Given the description of an element on the screen output the (x, y) to click on. 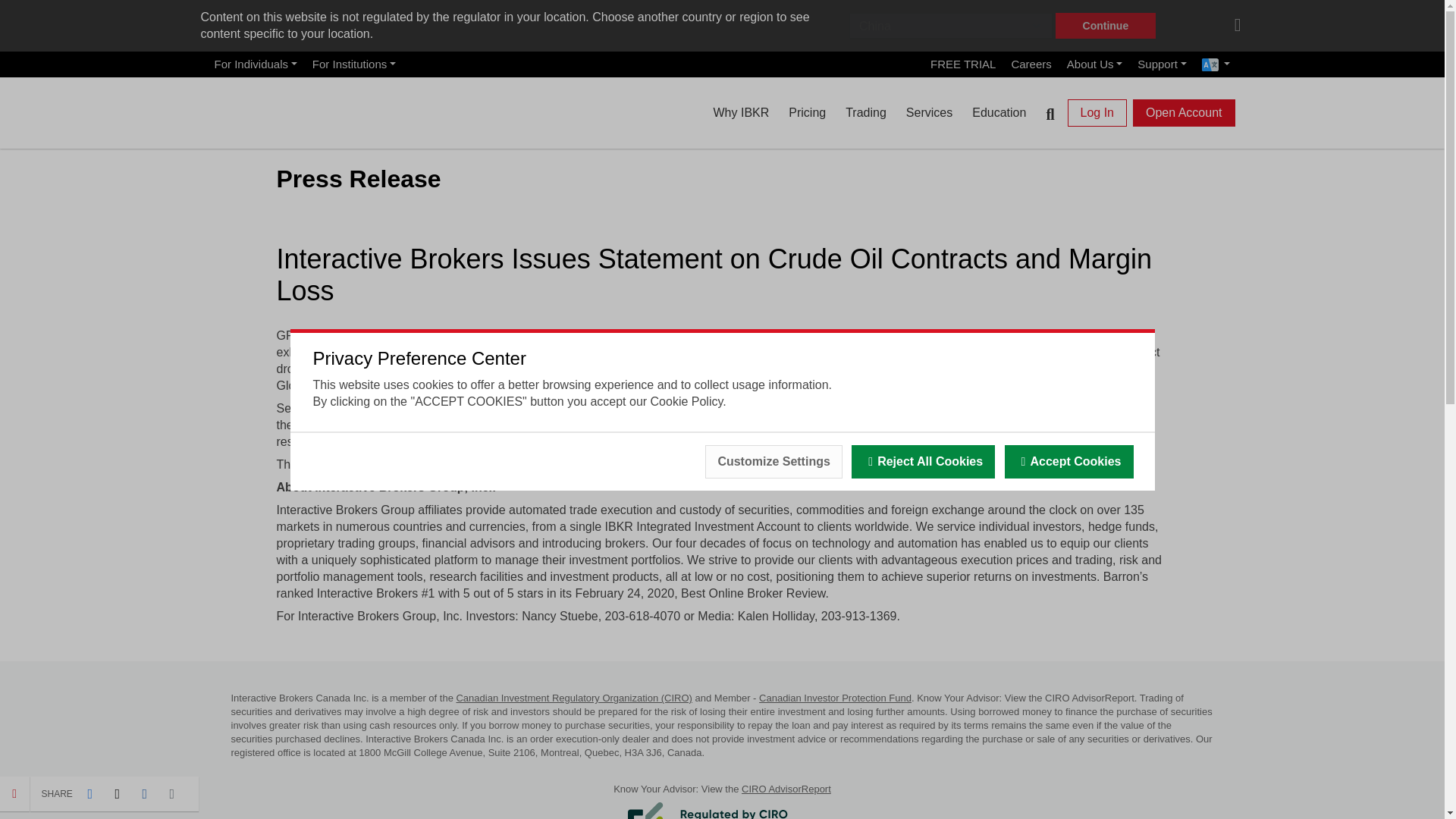
Share by Email (172, 793)
For Individuals (255, 63)
Share on Linkedin (144, 793)
Support (1161, 63)
Interactive Brokers Home (291, 109)
Share on Facebook (90, 793)
FREE TRIAL (962, 63)
Careers (1030, 63)
For Institutions (353, 63)
Share on Twitter (117, 793)
About Us (1095, 63)
Continue (1105, 25)
